Given the description of an element on the screen output the (x, y) to click on. 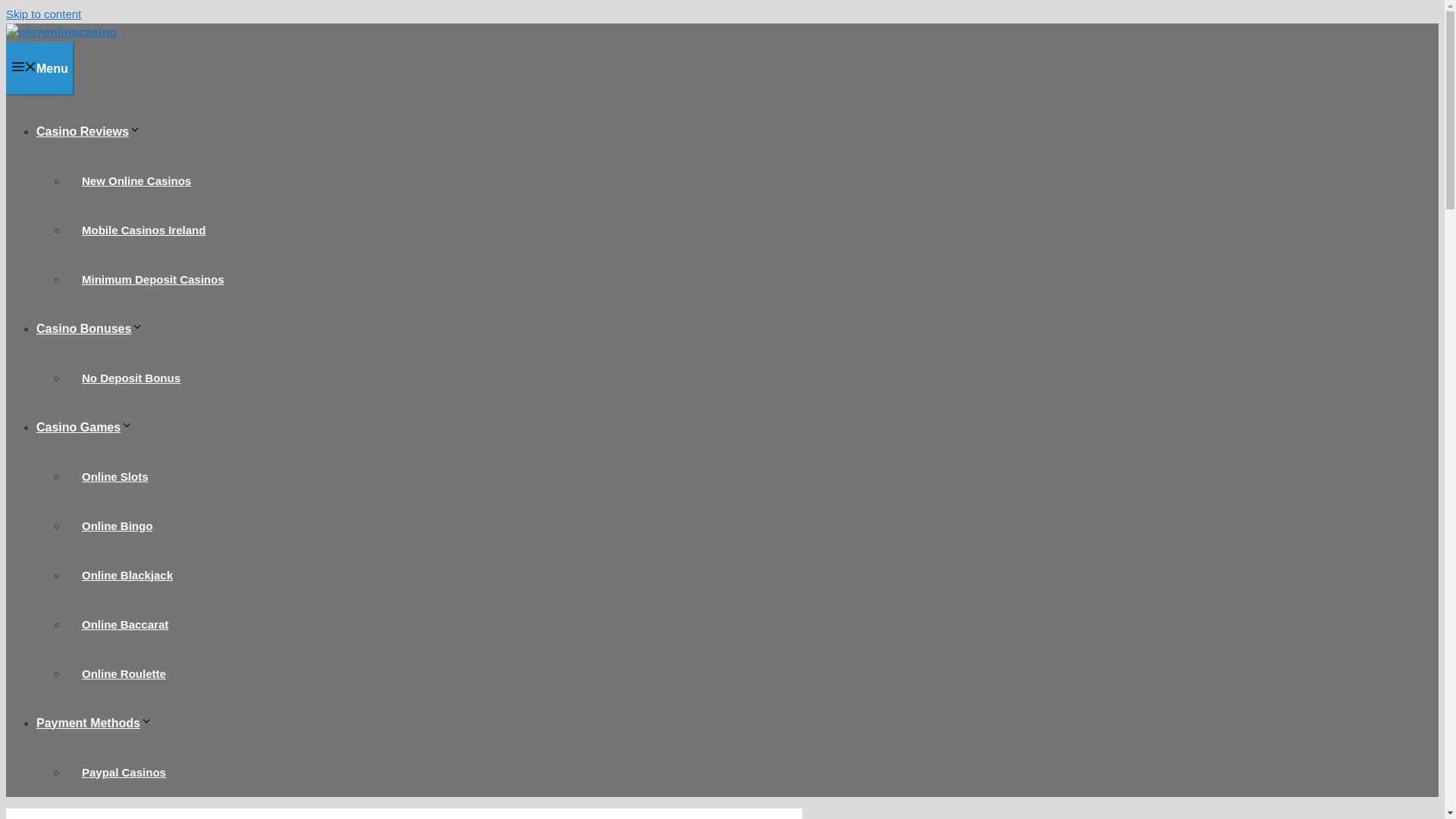
Casino Bonuses (89, 327)
Online Baccarat (124, 624)
New Online Casinos (136, 180)
Online Slots (114, 475)
Mobile Casinos Ireland (143, 230)
playonlinecasino (60, 31)
Minimum Deposit Casinos (153, 278)
Casino Reviews (88, 130)
Skip to content (43, 13)
Payment Methods (94, 721)
Paypal Casinos (123, 771)
No Deposit Bonus (130, 376)
Online Bingo (116, 525)
Online Roulette (123, 673)
Online Blackjack (126, 574)
